Given the description of an element on the screen output the (x, y) to click on. 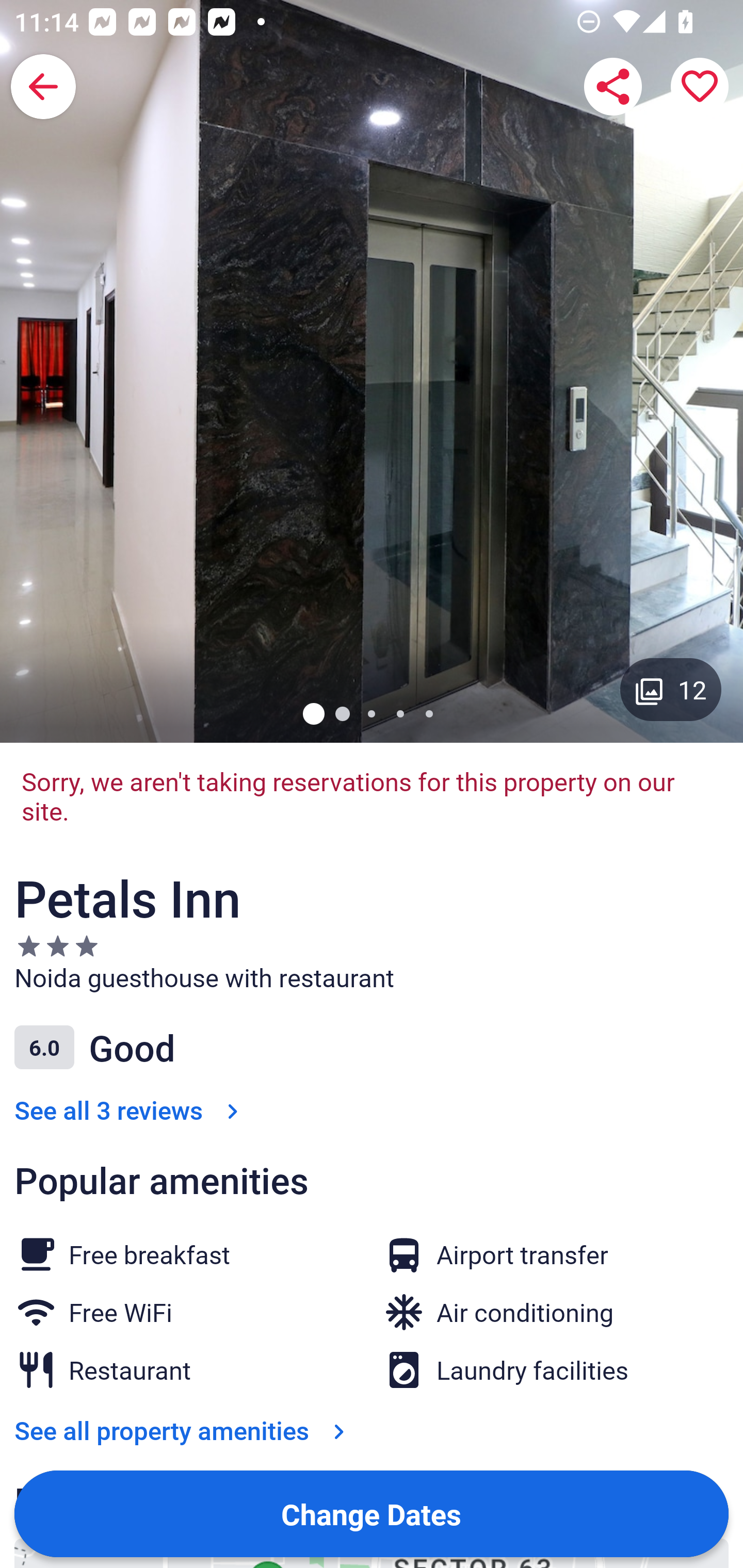
Back (43, 86)
Save property to a trip (699, 86)
Share Petals Inn (612, 87)
Gallery button with 12 images (670, 689)
See all 3 reviews See all 3 reviews Link (130, 1110)
See all property amenities (183, 1430)
Change Dates Button Change Dates (371, 1513)
